Given the description of an element on the screen output the (x, y) to click on. 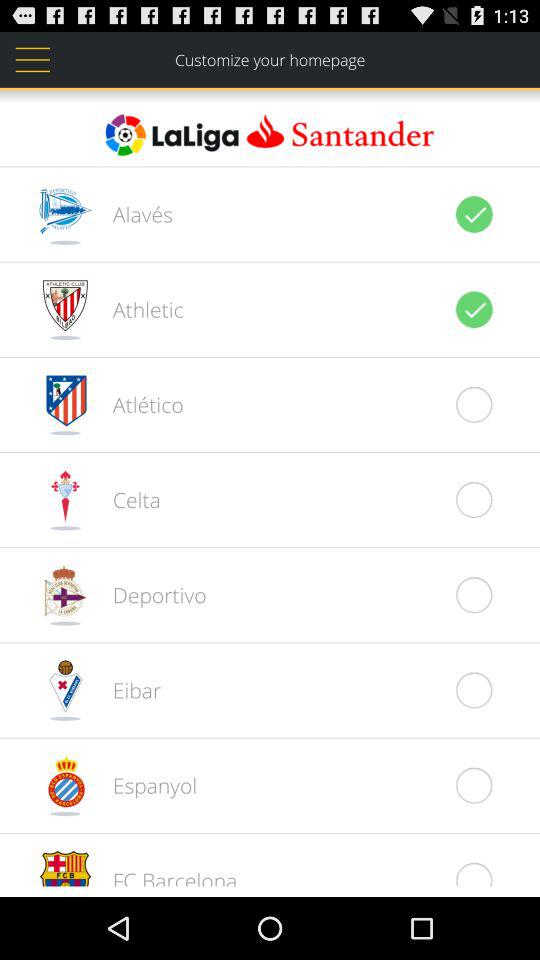
turn off espanyol icon (144, 785)
